Given the description of an element on the screen output the (x, y) to click on. 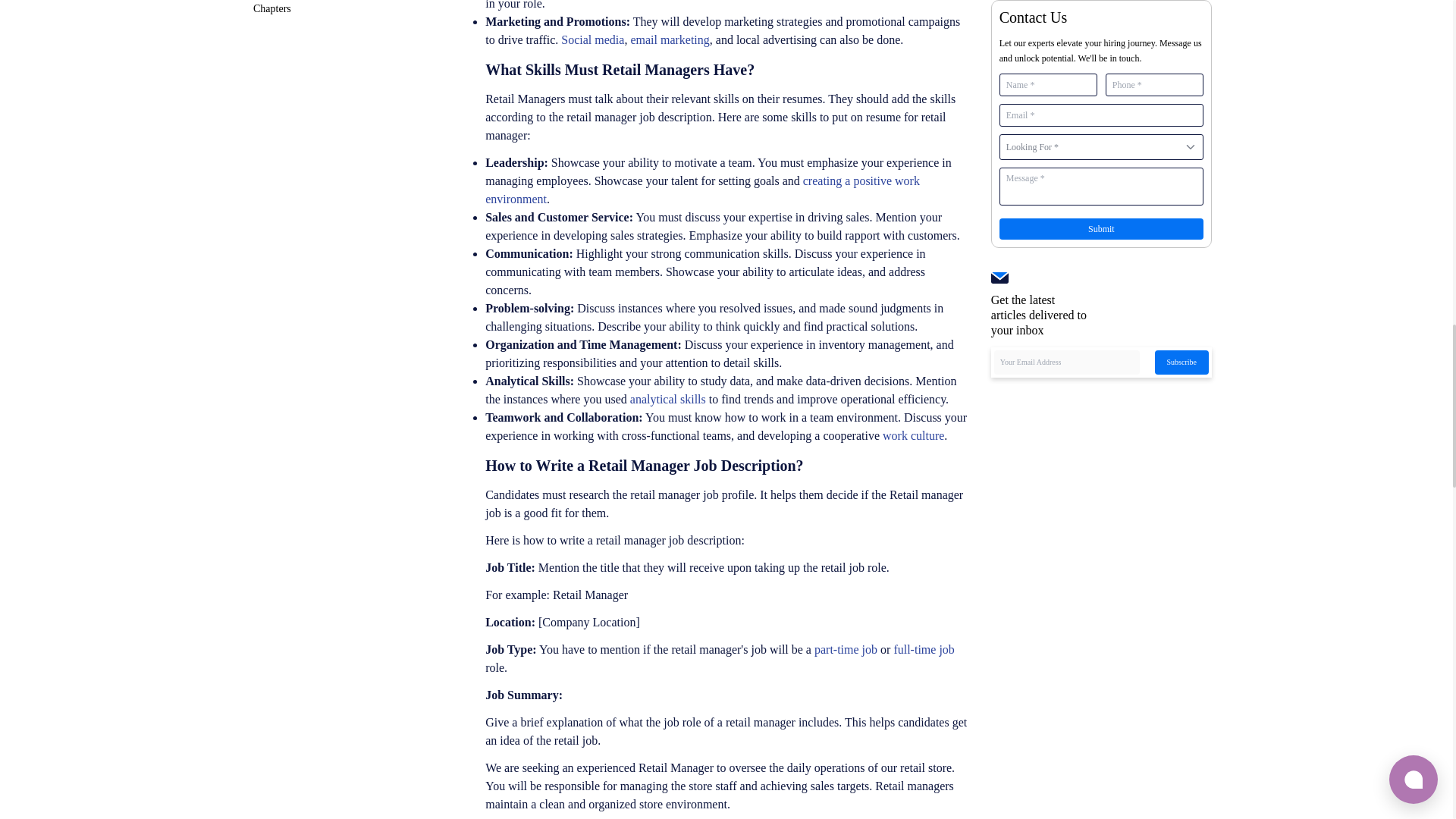
creating a positive work environment (702, 189)
analytical skills (668, 399)
Social media (592, 39)
part-time job (845, 649)
work culture (912, 435)
email marketing (669, 39)
